Given the description of an element on the screen output the (x, y) to click on. 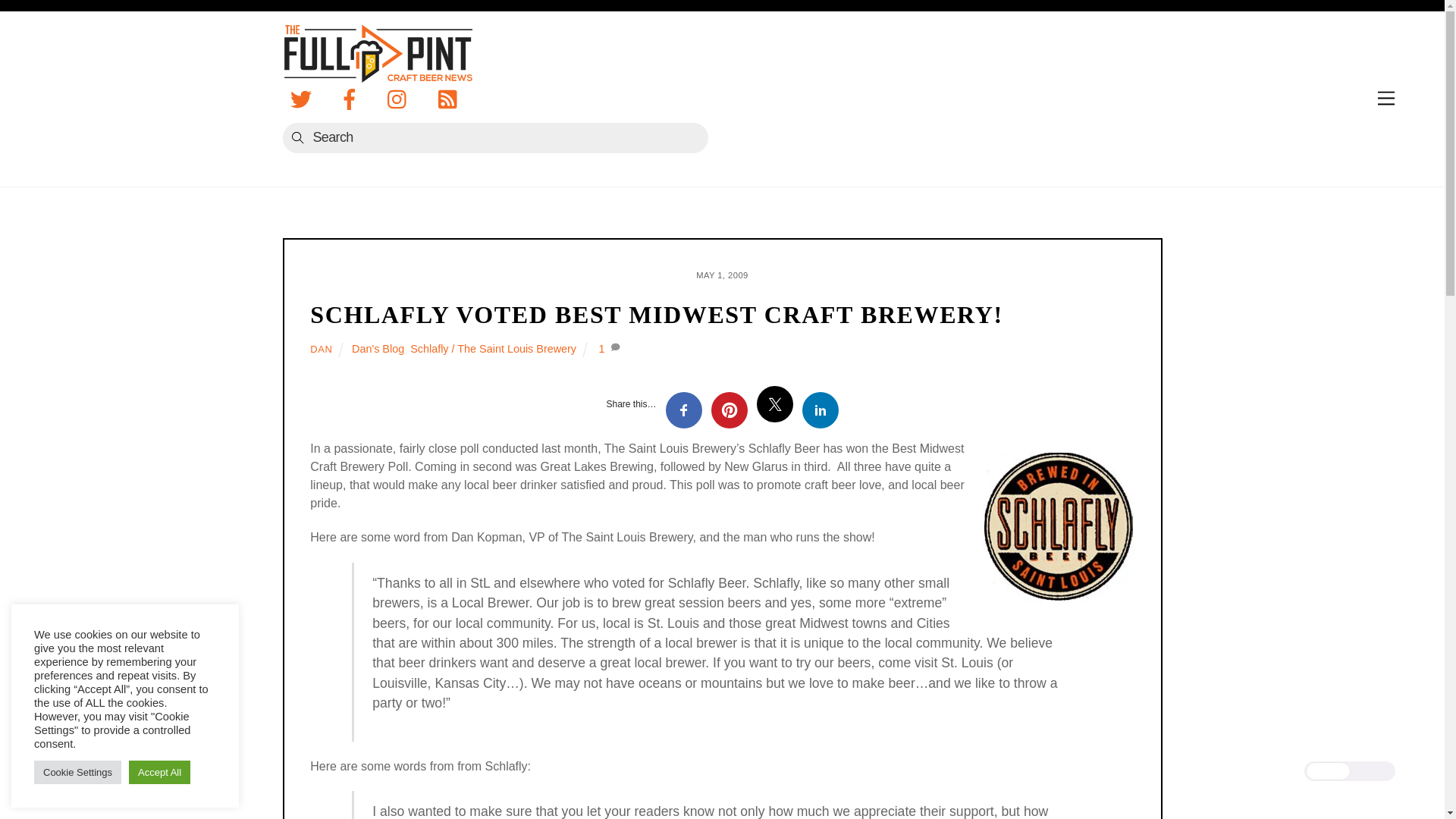
Menu (1385, 98)
Schlafly Beer - Tall (1058, 524)
Search (494, 137)
The Full Pint - Craft Beer News (376, 53)
The Full Pint - Craft Beer News (376, 71)
DAN (320, 348)
Dan's Blog (378, 348)
